Given the description of an element on the screen output the (x, y) to click on. 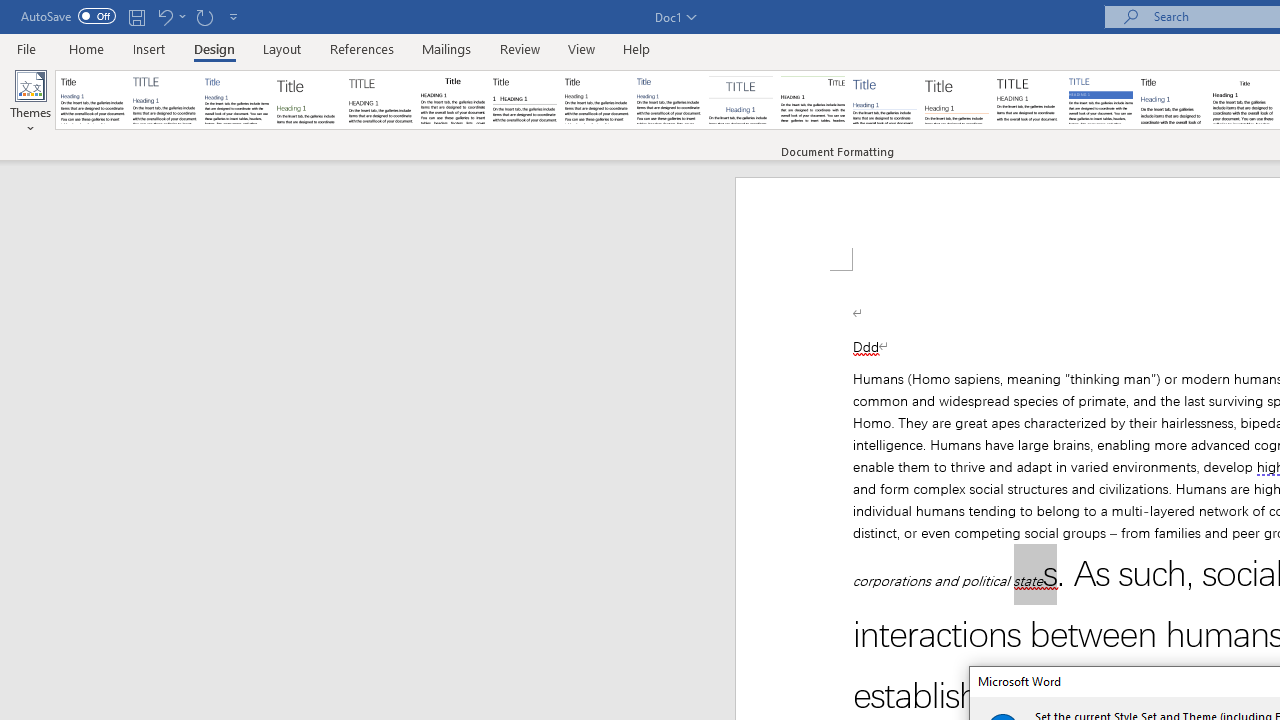
Undo Apply Quick Style Set (164, 15)
Black & White (Word 2013) (596, 100)
